Given the description of an element on the screen output the (x, y) to click on. 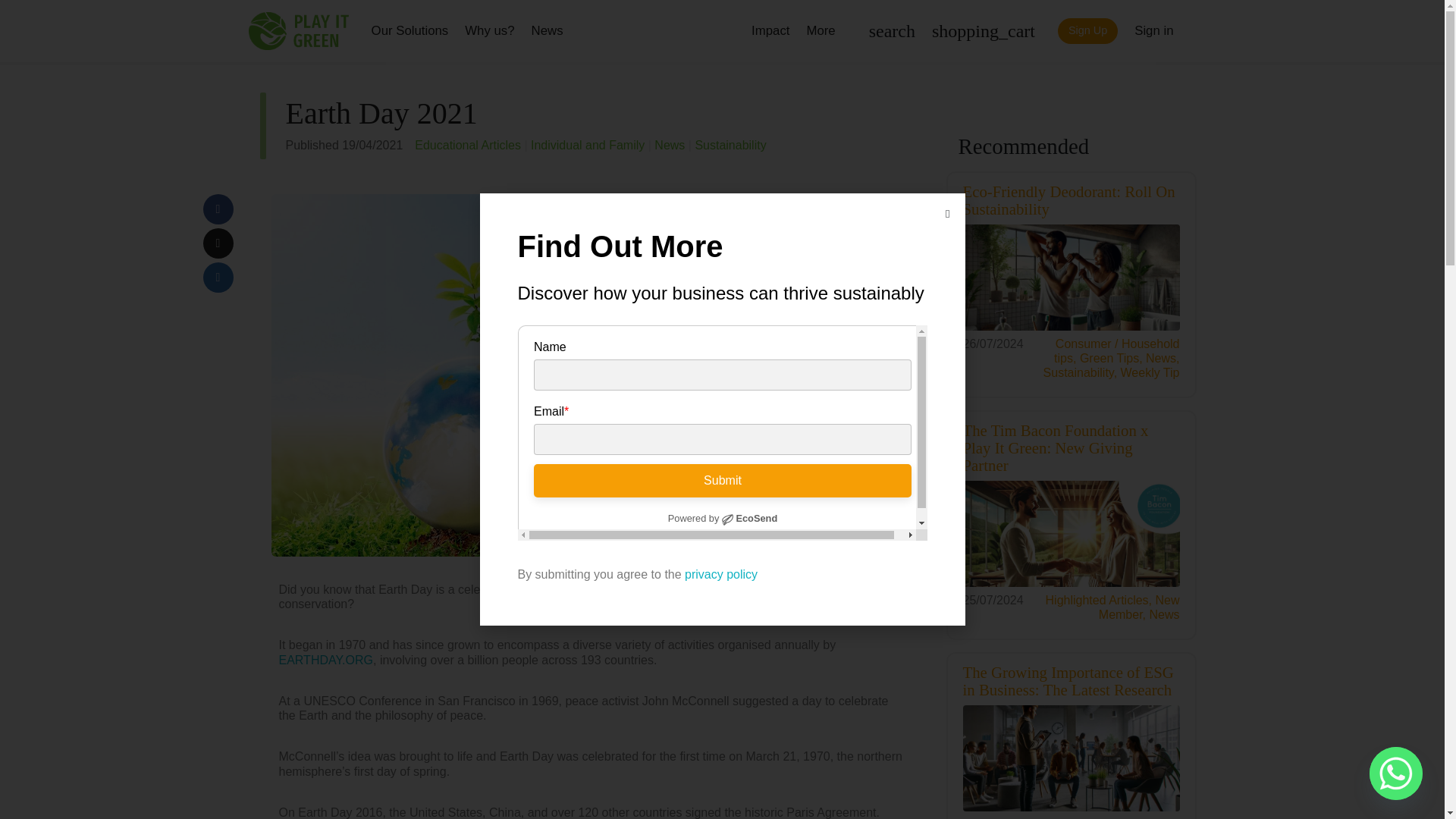
Sign Up (1088, 31)
Why us? (488, 30)
Impact (770, 30)
Sign in (1153, 30)
News (547, 30)
Our Solutions (409, 30)
More (820, 30)
